Given the description of an element on the screen output the (x, y) to click on. 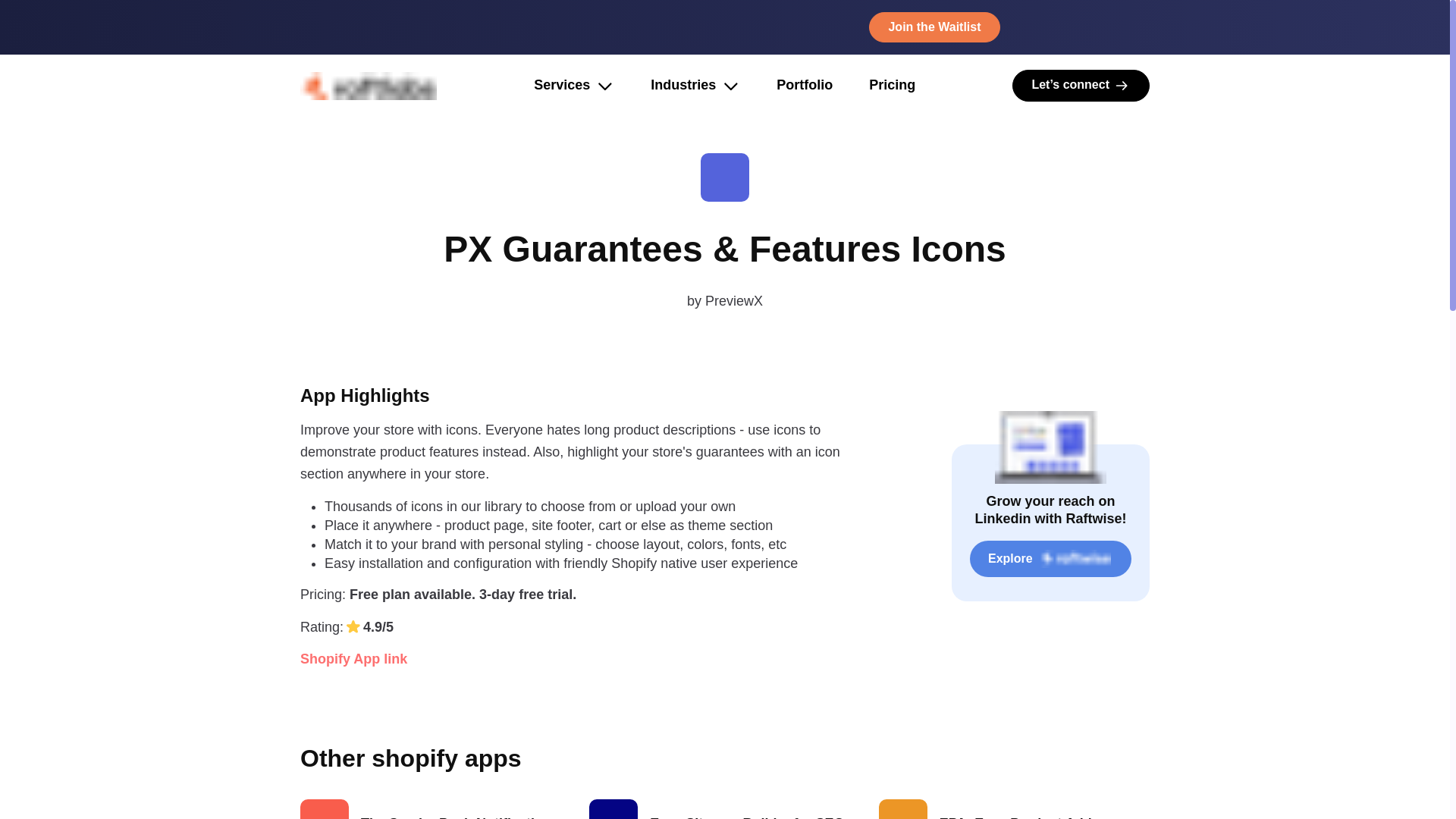
Shopify App link (580, 659)
Join the Waitlist (933, 27)
Pricing (892, 84)
Toggle Services menu (604, 85)
Industries (683, 85)
Services (561, 85)
Portfolio (804, 84)
Toggle Industries menu (730, 85)
Explore (1050, 558)
